Given the description of an element on the screen output the (x, y) to click on. 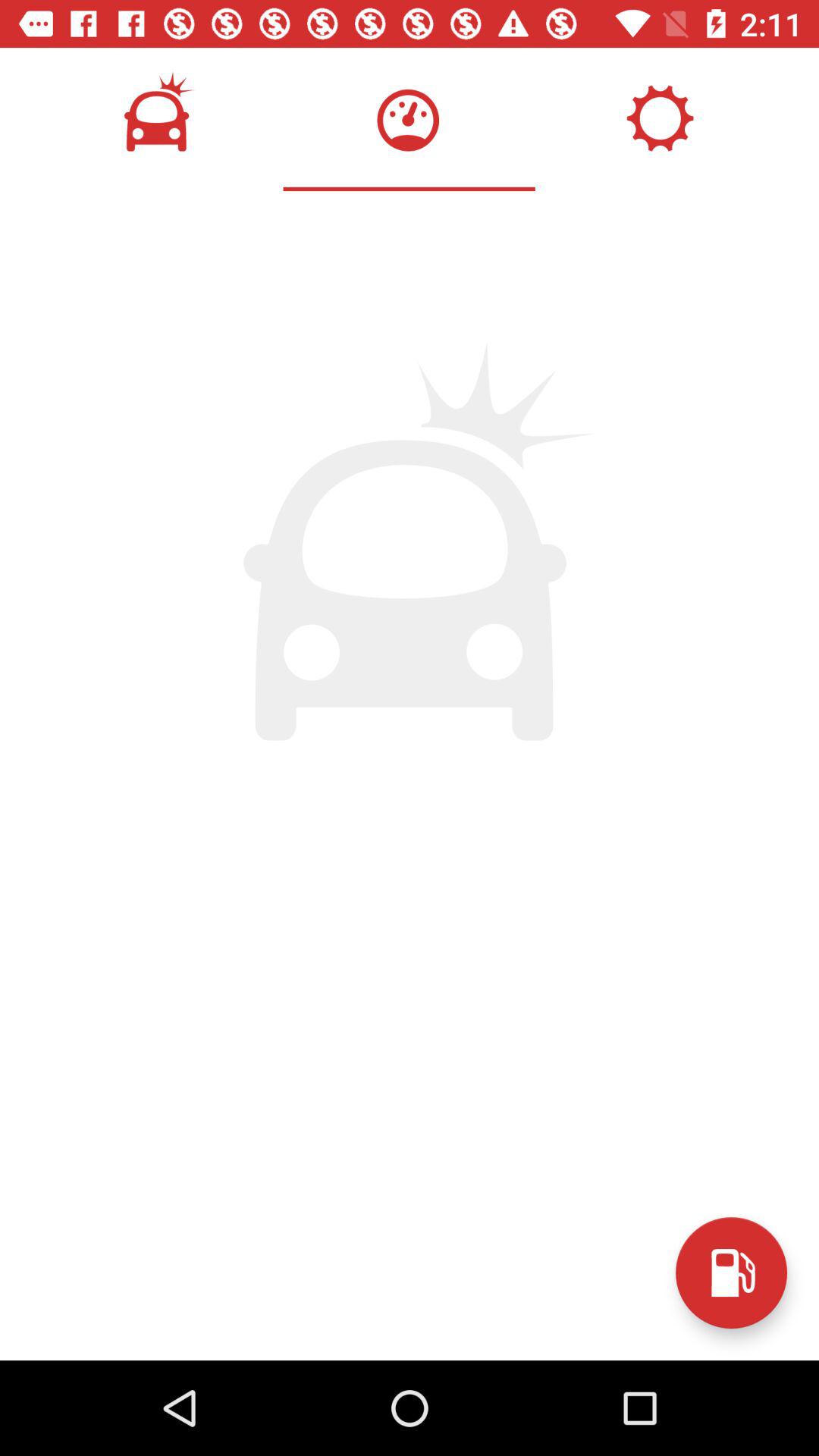
toggle gas locations (731, 1272)
